Given the description of an element on the screen output the (x, y) to click on. 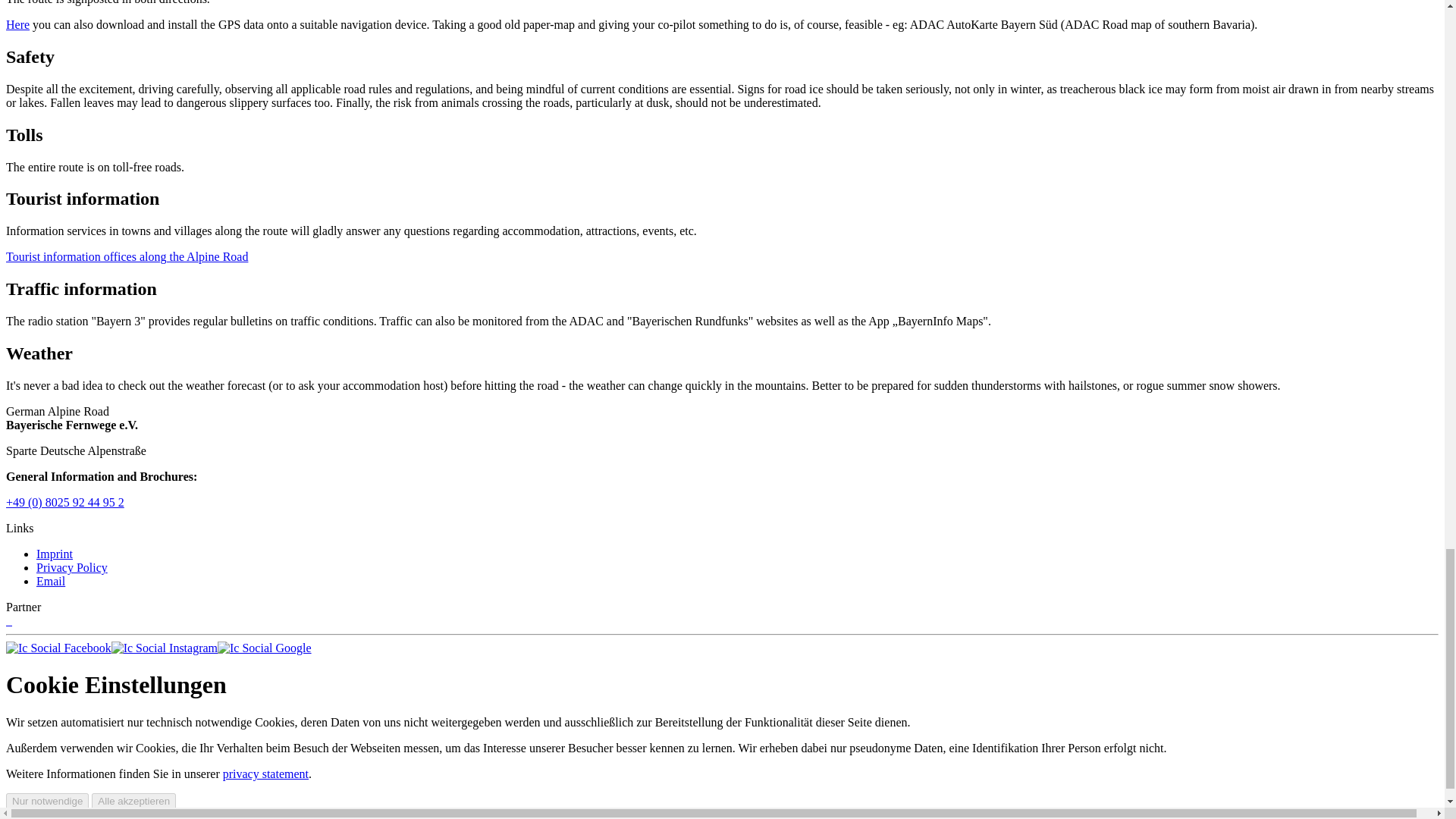
Tolls (23, 134)
Tourist information (81, 198)
Here (17, 24)
Tourist-Informationen (126, 256)
Safety (30, 56)
